Given the description of an element on the screen output the (x, y) to click on. 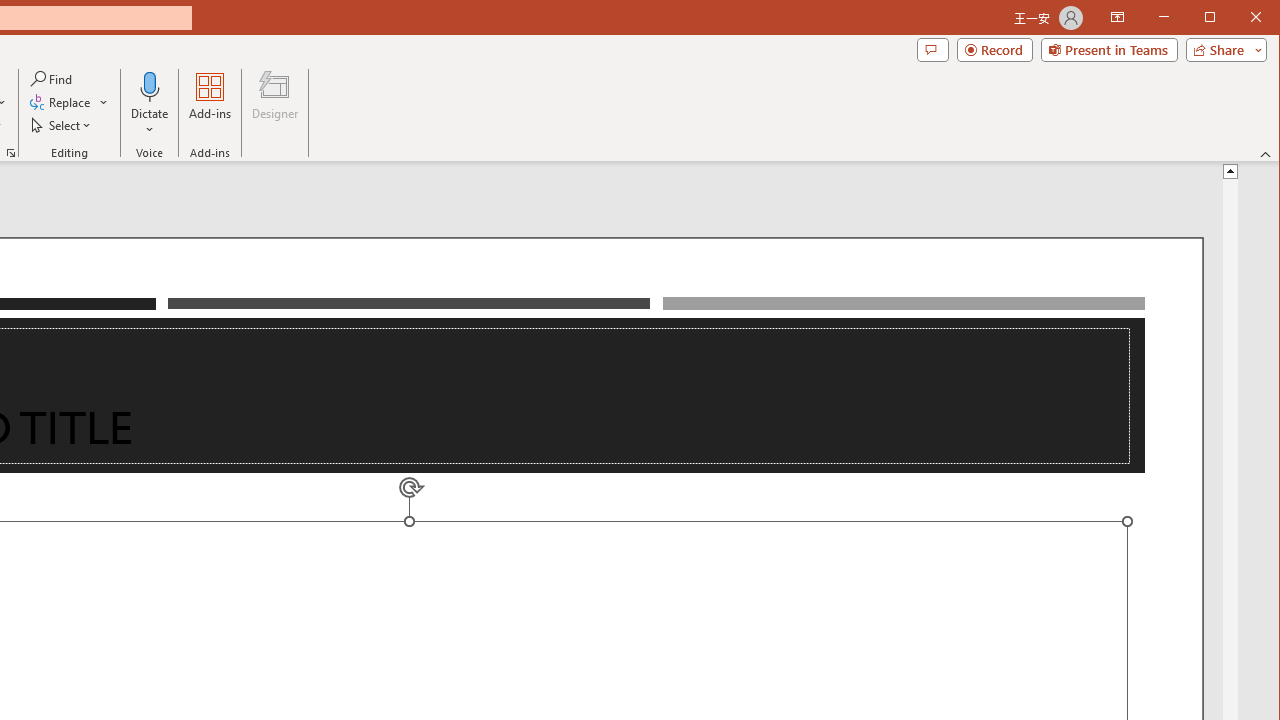
Replace... (61, 101)
Maximize (1238, 18)
Replace... (69, 101)
Dictate (150, 86)
Select (62, 124)
Find... (52, 78)
